Given the description of an element on the screen output the (x, y) to click on. 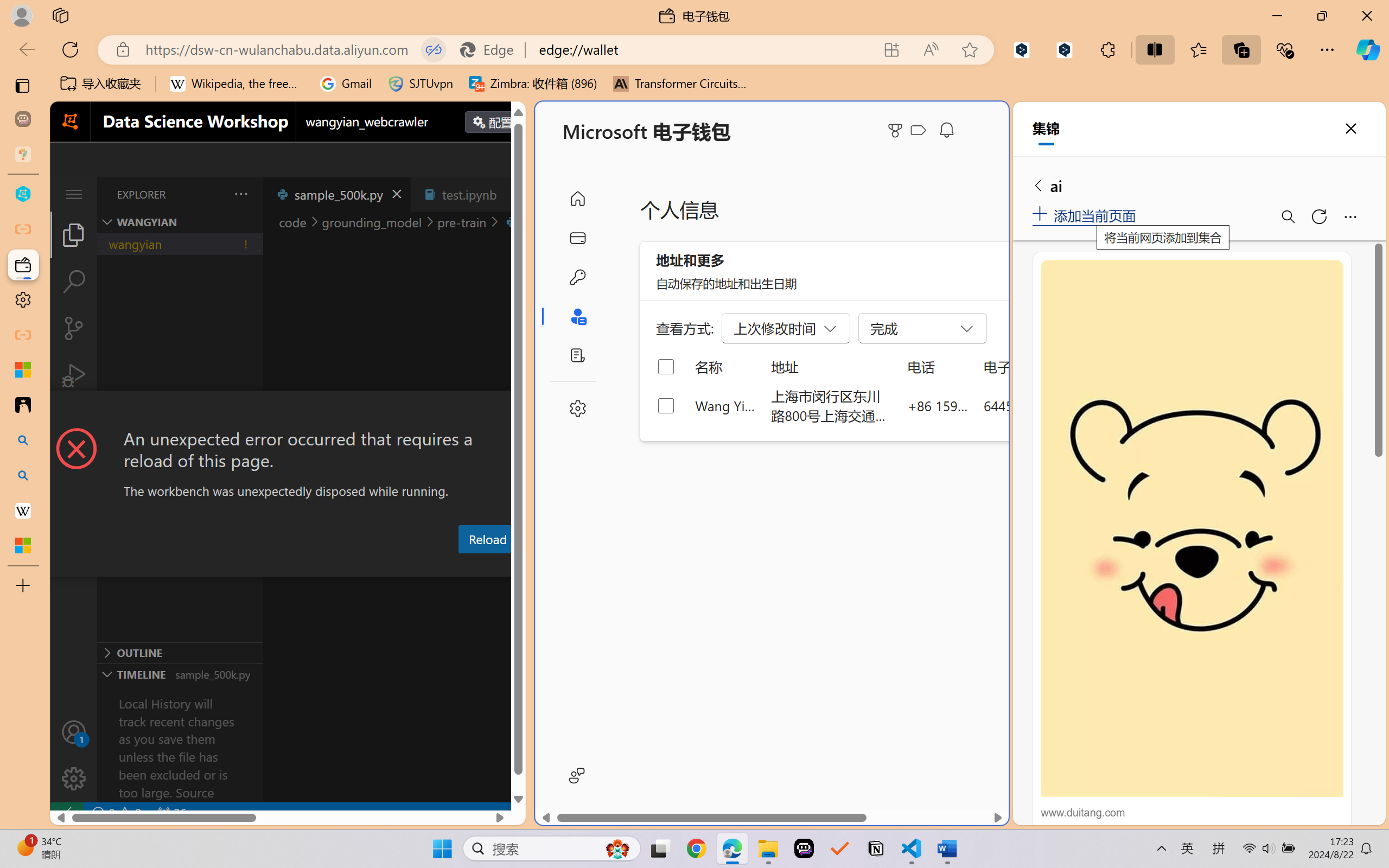
Problems (Ctrl+Shift+M) (308, 565)
Explorer (Ctrl+Shift+E) (73, 234)
Timeline Section (179, 673)
Run and Debug (Ctrl+Shift+D) (73, 375)
